Given the description of an element on the screen output the (x, y) to click on. 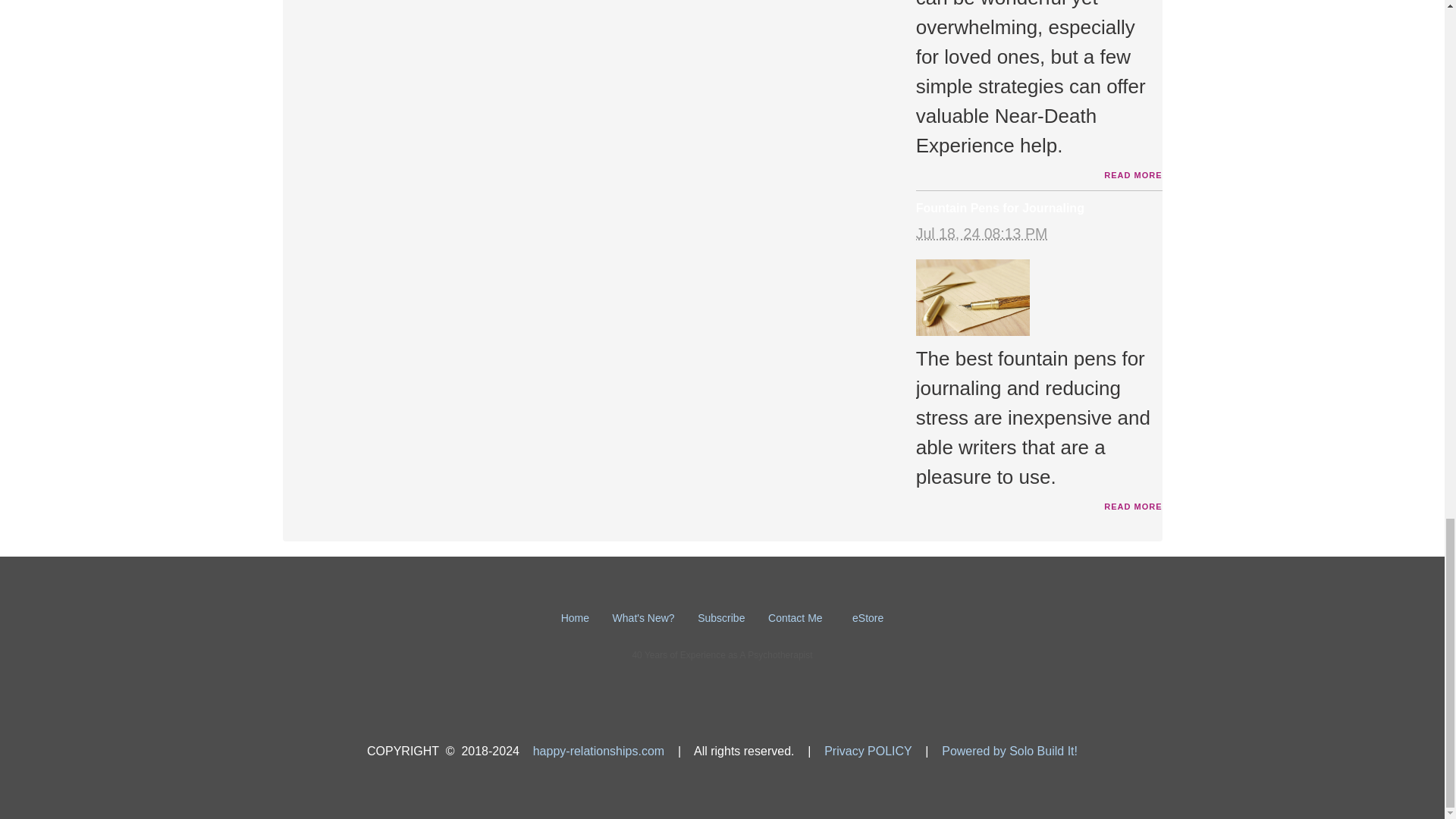
Subscribe (722, 617)
What's New? (645, 617)
Home (576, 617)
2024-07-18T20:13:13-0400 (980, 233)
READ MORE (1132, 174)
Fountain Pens for Journaling (999, 207)
Contact Me (796, 617)
READ MORE (1132, 506)
